Given the description of an element on the screen output the (x, y) to click on. 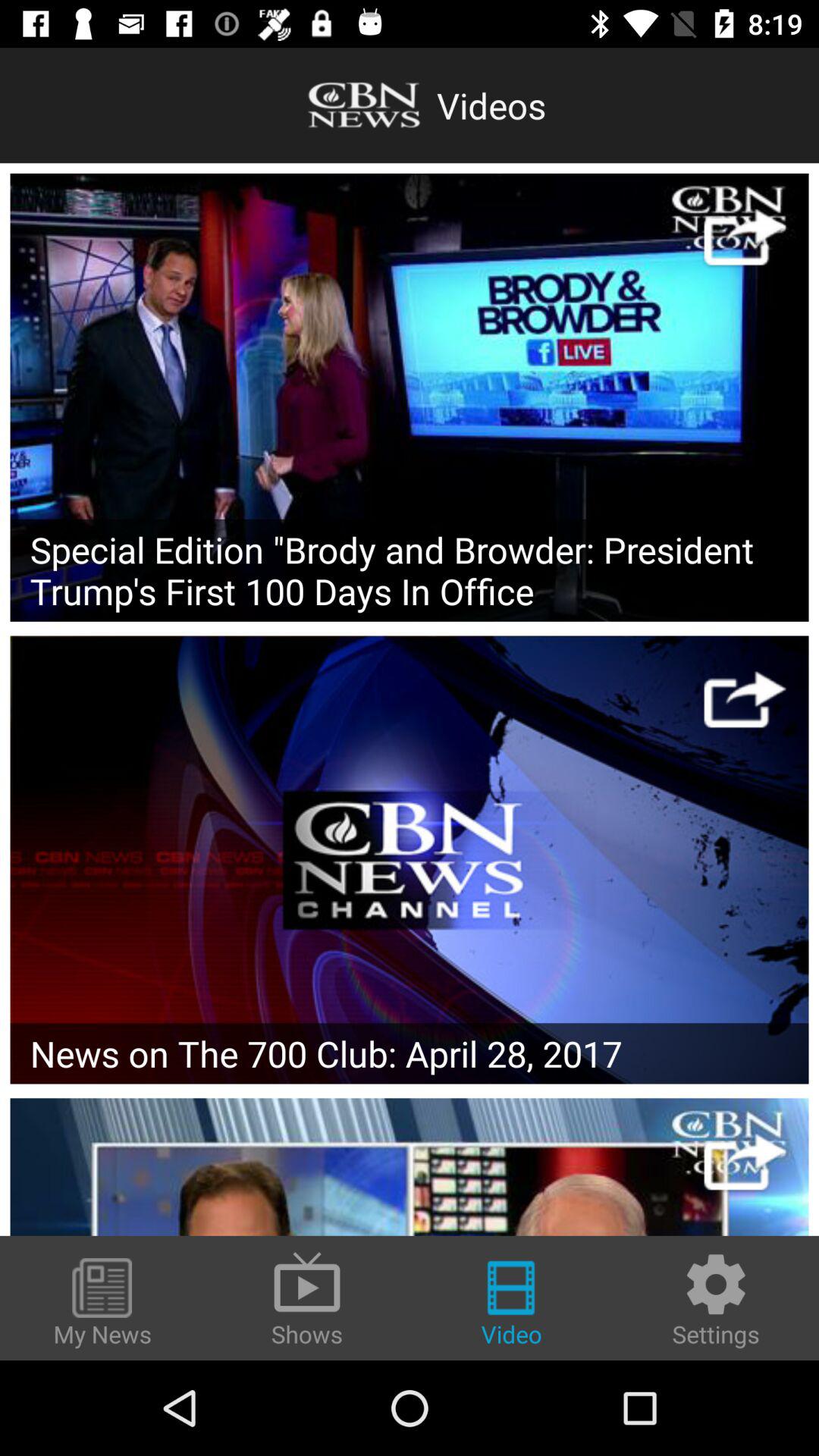
select the particular video (409, 1166)
